Given the description of an element on the screen output the (x, y) to click on. 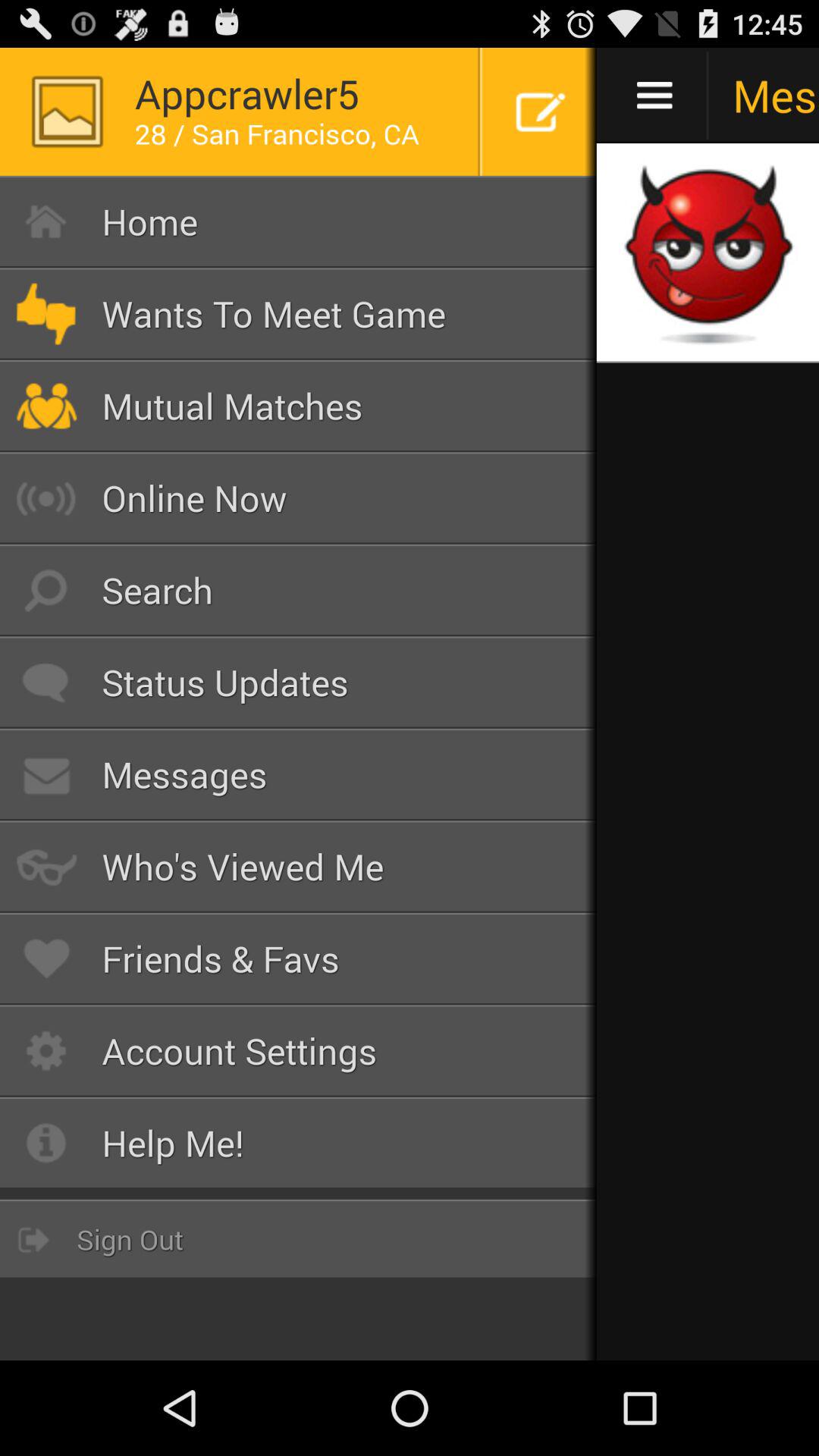
jump until the status updates (298, 682)
